Given the description of an element on the screen output the (x, y) to click on. 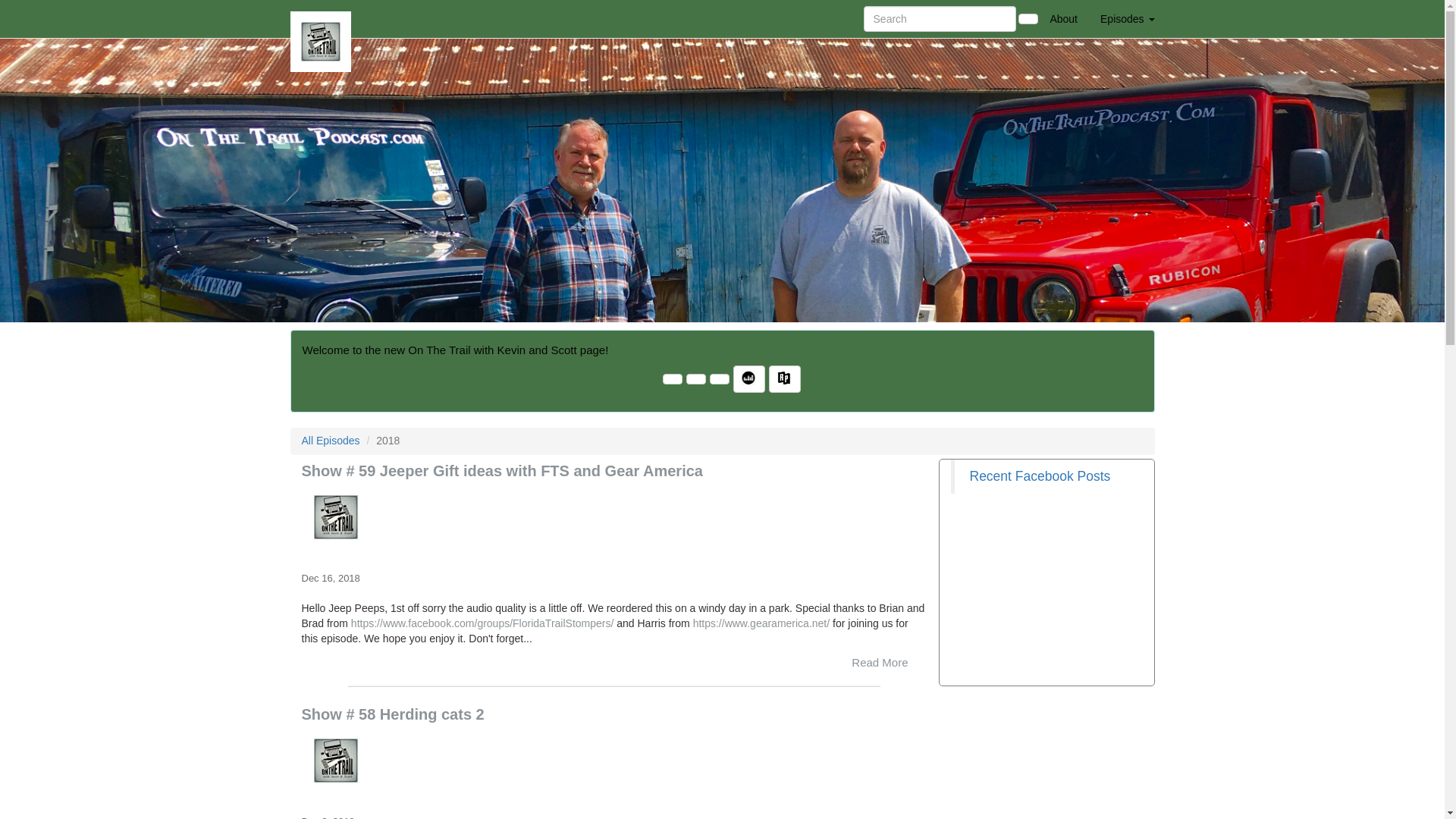
About (1063, 18)
Home Page (320, 18)
Episodes (1127, 18)
